Given the description of an element on the screen output the (x, y) to click on. 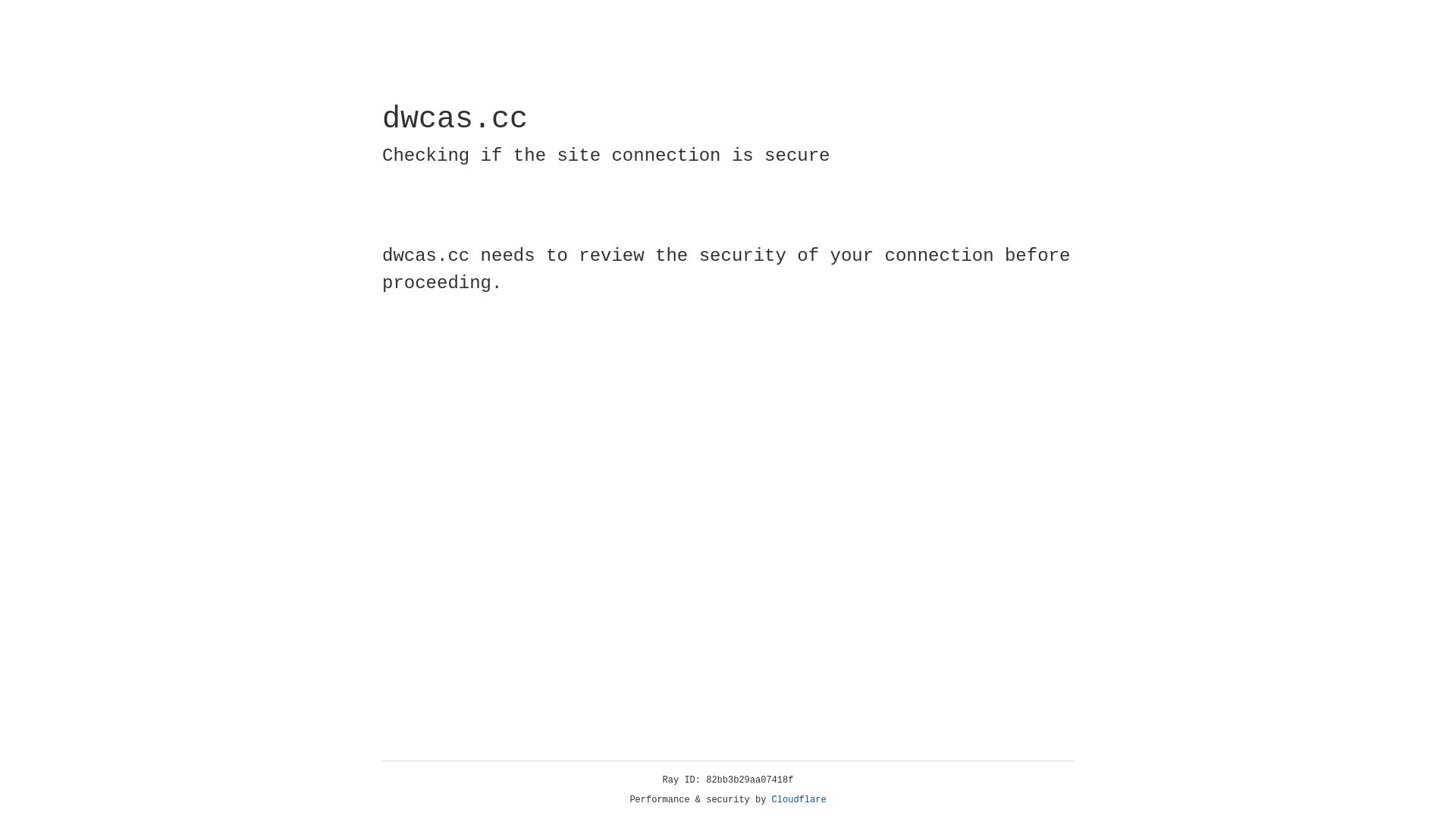
Cloudflare Element type: text (798, 799)
